Given the description of an element on the screen output the (x, y) to click on. 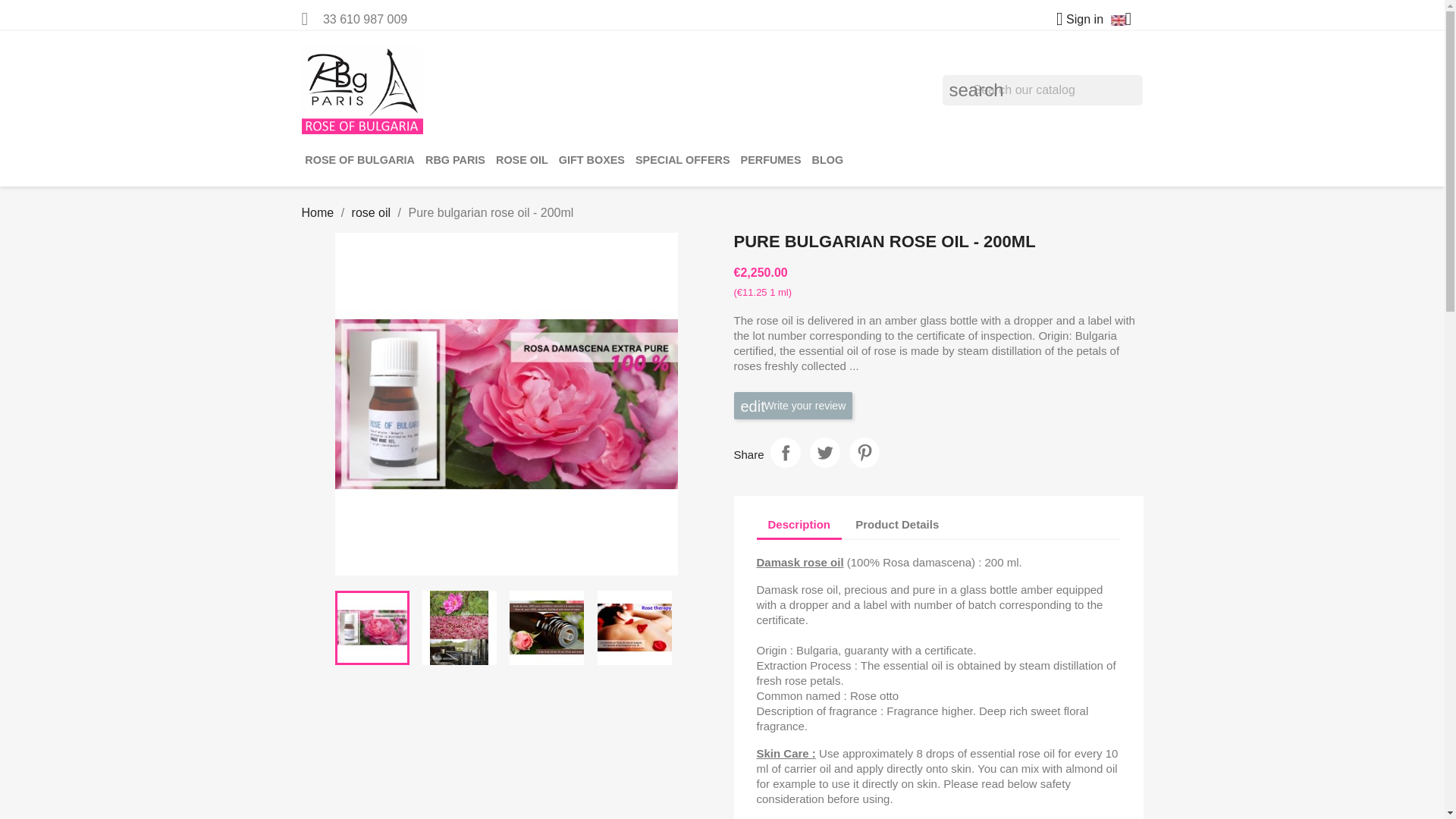
Home (317, 212)
Tweet (824, 452)
BLOG (827, 160)
Log in to your customer account (1074, 19)
Write your review (793, 405)
Share (785, 452)
GIFT BOXES (591, 160)
Share (785, 452)
ROSE OIL (521, 160)
ROSE OF BULGARIA (360, 160)
